Given the description of an element on the screen output the (x, y) to click on. 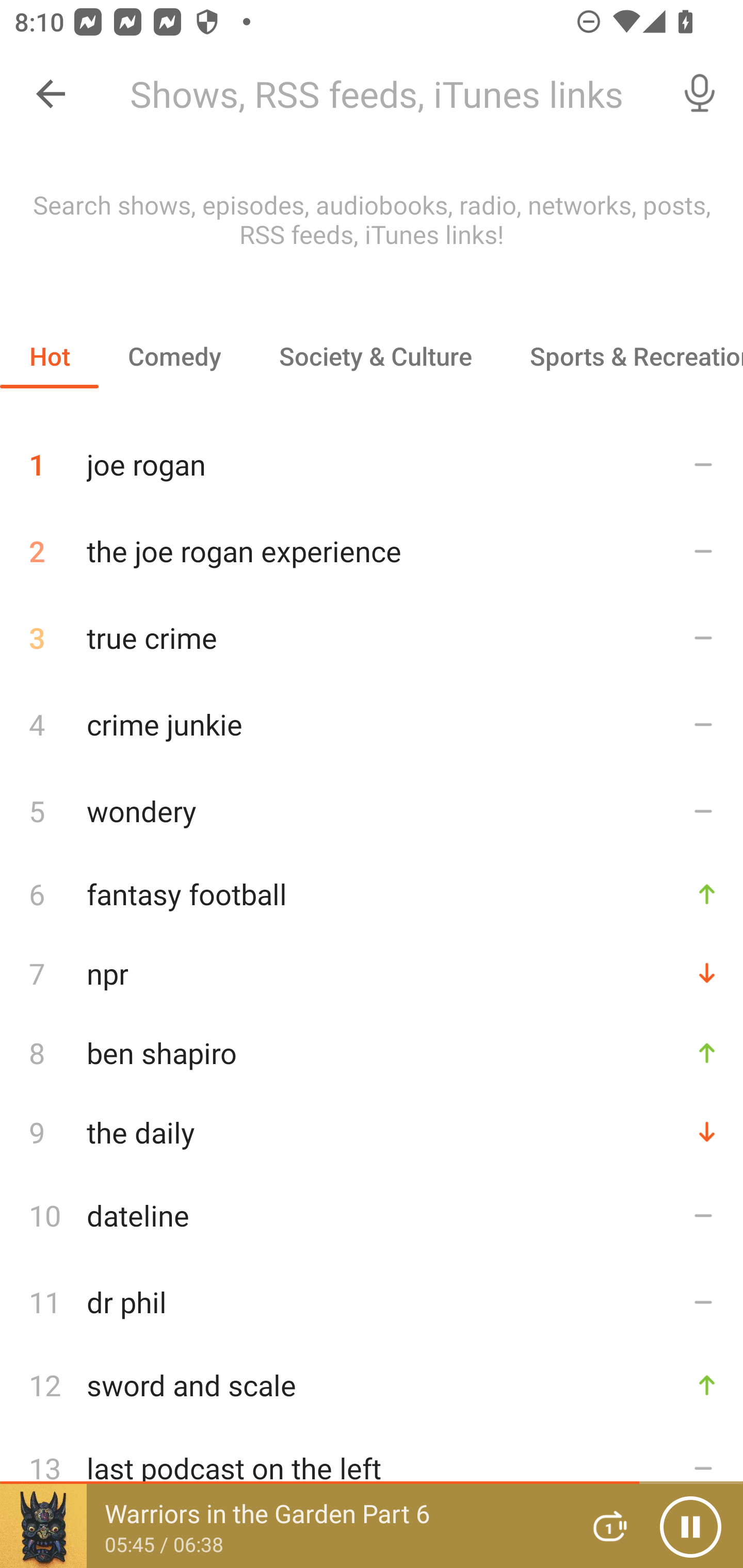
Collapse (50, 93)
Voice Search (699, 93)
Shows, RSS feeds, iTunes links (385, 94)
Hot (49, 355)
Comedy (173, 355)
Society & Culture (374, 355)
Sports & Recreation (621, 355)
1 joe rogan (371, 457)
2 the joe rogan experience (371, 551)
3 true crime (371, 637)
4 crime junkie (371, 723)
5 wondery (371, 810)
6 fantasy football (371, 893)
7 npr (371, 972)
8 ben shapiro (371, 1052)
9 the daily (371, 1131)
10 dateline (371, 1215)
11 dr phil (371, 1302)
12 sword and scale (371, 1385)
13 last podcast on the left (371, 1468)
